Given the description of an element on the screen output the (x, y) to click on. 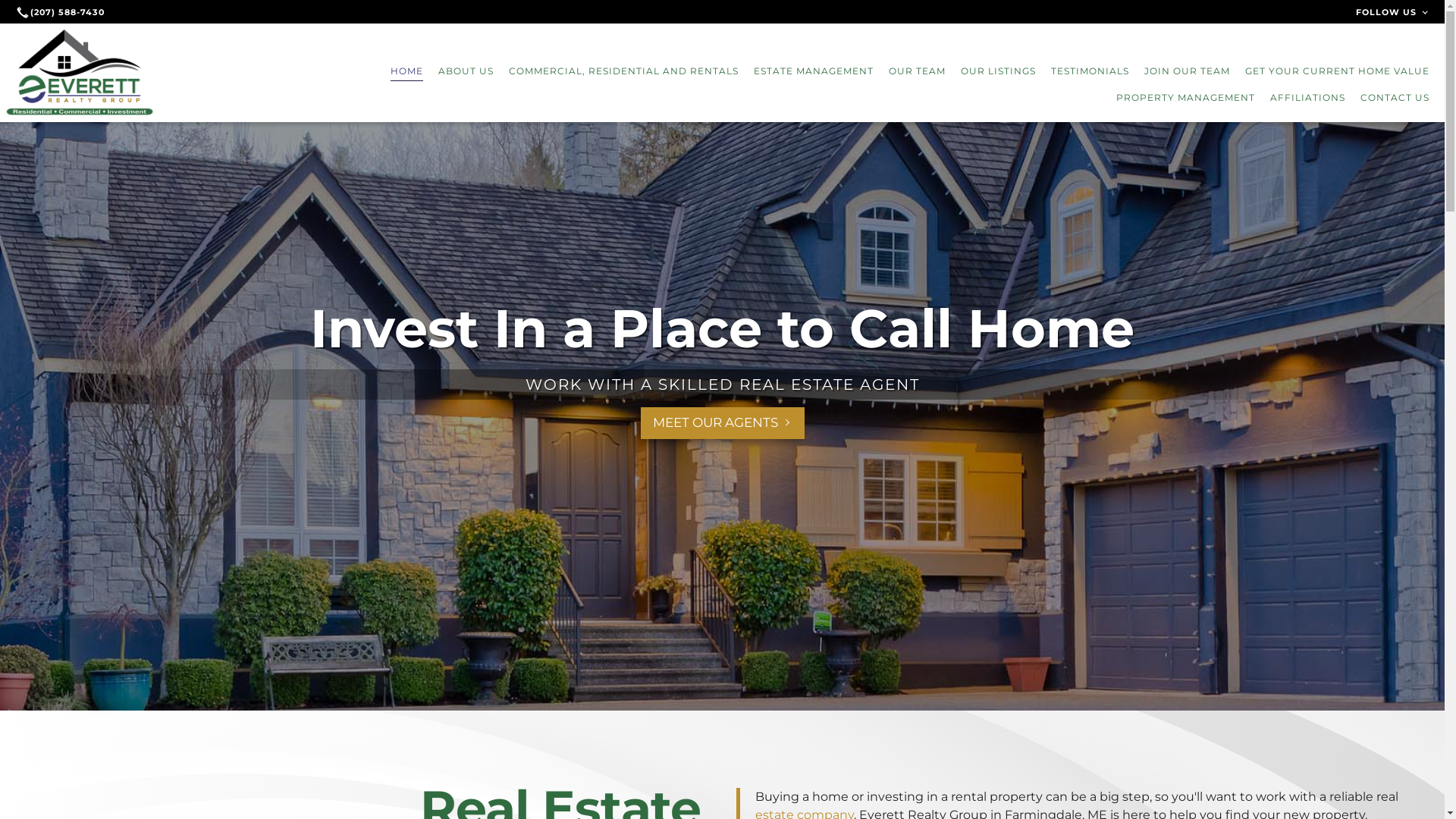
ESTATE MANAGEMENT Element type: text (813, 71)
GET YOUR CURRENT HOME VALUE Element type: text (1337, 71)
AFFILIATIONS Element type: text (1307, 97)
JOIN OUR TEAM Element type: text (1187, 71)
COMMERCIAL, RESIDENTIAL AND RENTALS Element type: text (623, 71)
MEET OUR AGENTS Element type: text (721, 423)
CONTACT US Element type: text (1394, 97)
Invest In a Place to Call Home Element type: text (722, 327)
OUR TEAM Element type: text (916, 71)
TESTIMONIALS Element type: text (1090, 71)
PROPERTY MANAGEMENT Element type: text (1185, 97)
(207) 588-7430 Element type: hover (62, 11)
HOME Element type: text (406, 71)
OUR LISTINGS Element type: text (997, 71)
ABOUT US Element type: text (465, 71)
